Given the description of an element on the screen output the (x, y) to click on. 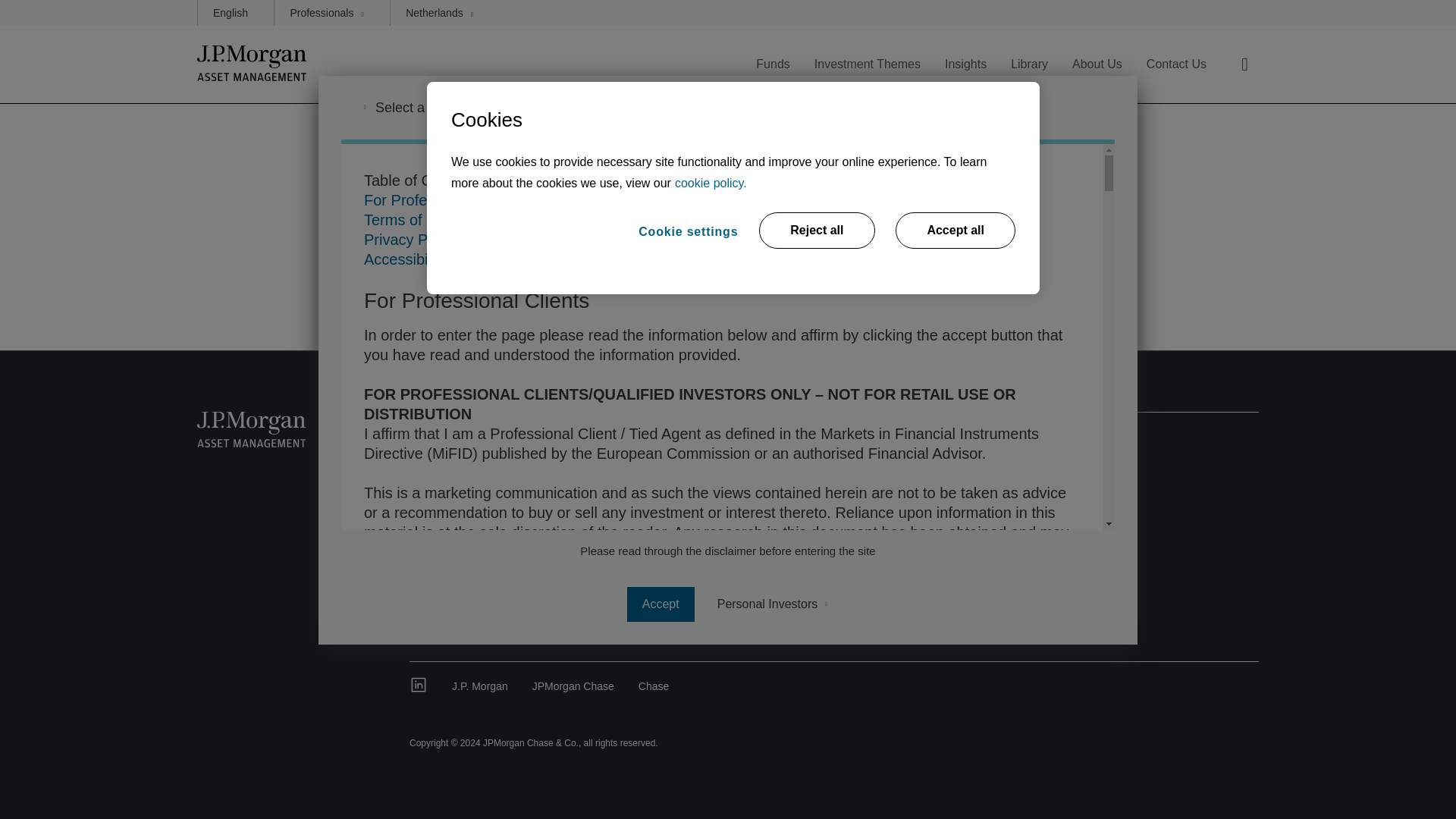
Privacy Policy (411, 239)
accept (660, 604)
Insights (965, 74)
Investment Themes (867, 74)
Personal Investors (773, 604)
For Professional Clients (444, 199)
Terms of Use (408, 219)
Accessibility Statement (441, 258)
